Given the description of an element on the screen output the (x, y) to click on. 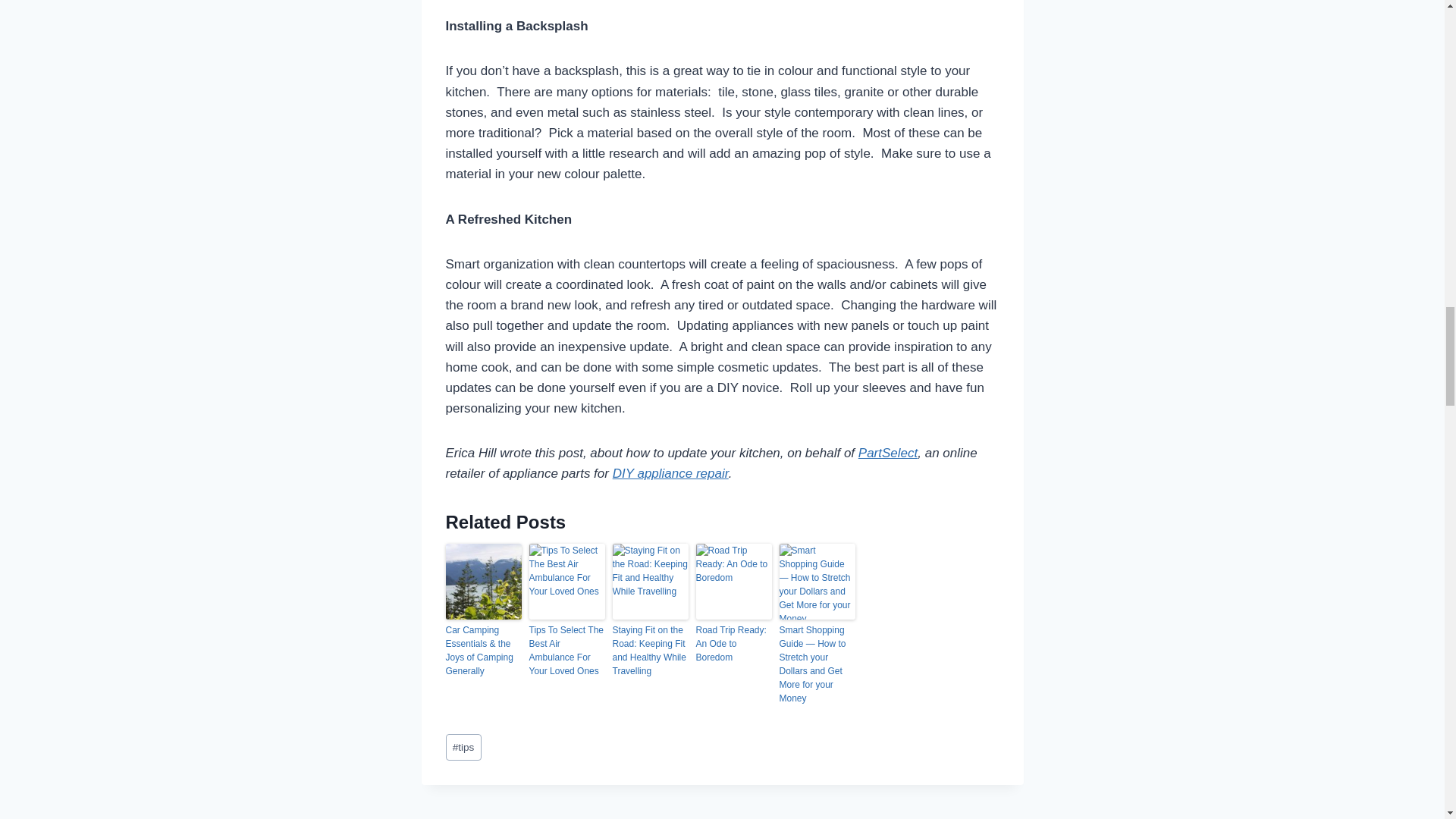
Road Trip Ready: An Ode to Boredom (733, 643)
Tips To Select The Best Air Ambulance For Your Loved Ones (567, 650)
tips (463, 746)
PartSelect (888, 452)
DIY appliance repair (670, 473)
